Given the description of an element on the screen output the (x, y) to click on. 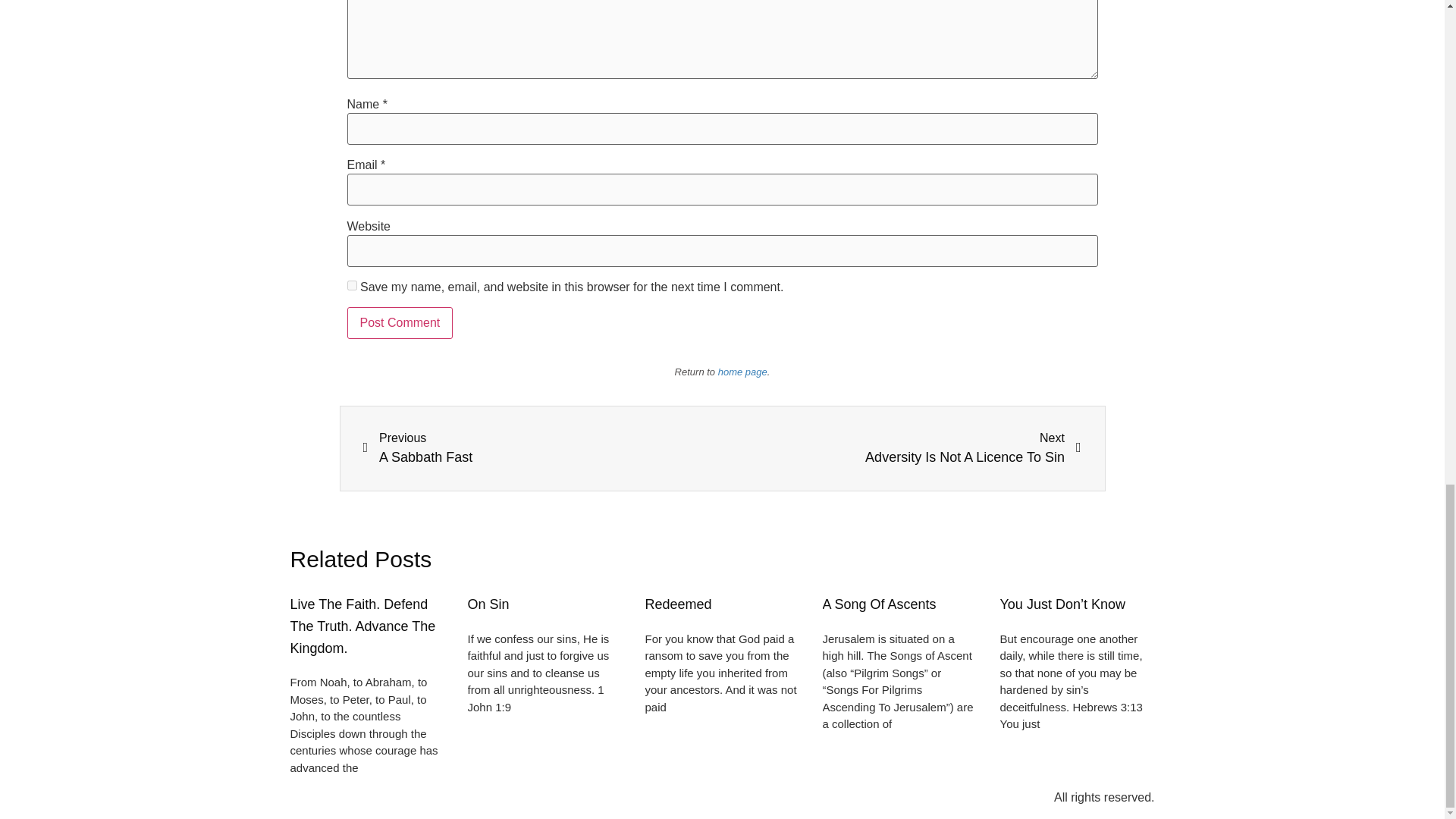
home page (742, 371)
On Sin (901, 448)
Post Comment (542, 448)
A Song Of Ascents (487, 604)
Redeemed (399, 323)
Post Comment (879, 604)
yes (678, 604)
Live The Faith. Defend The Truth. Advance The Kingdom. (399, 323)
